Given the description of an element on the screen output the (x, y) to click on. 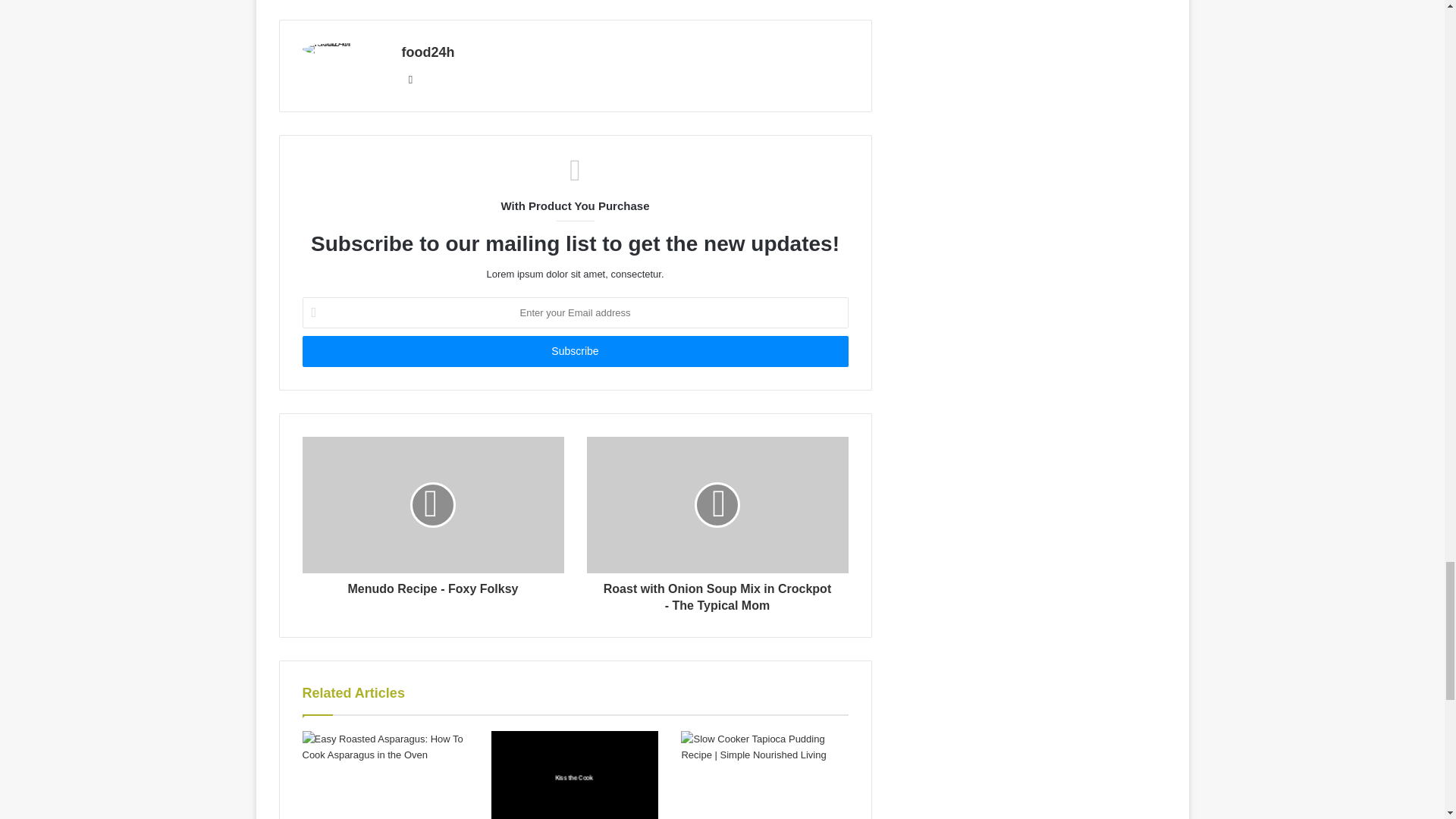
Subscribe (574, 350)
